Given the description of an element on the screen output the (x, y) to click on. 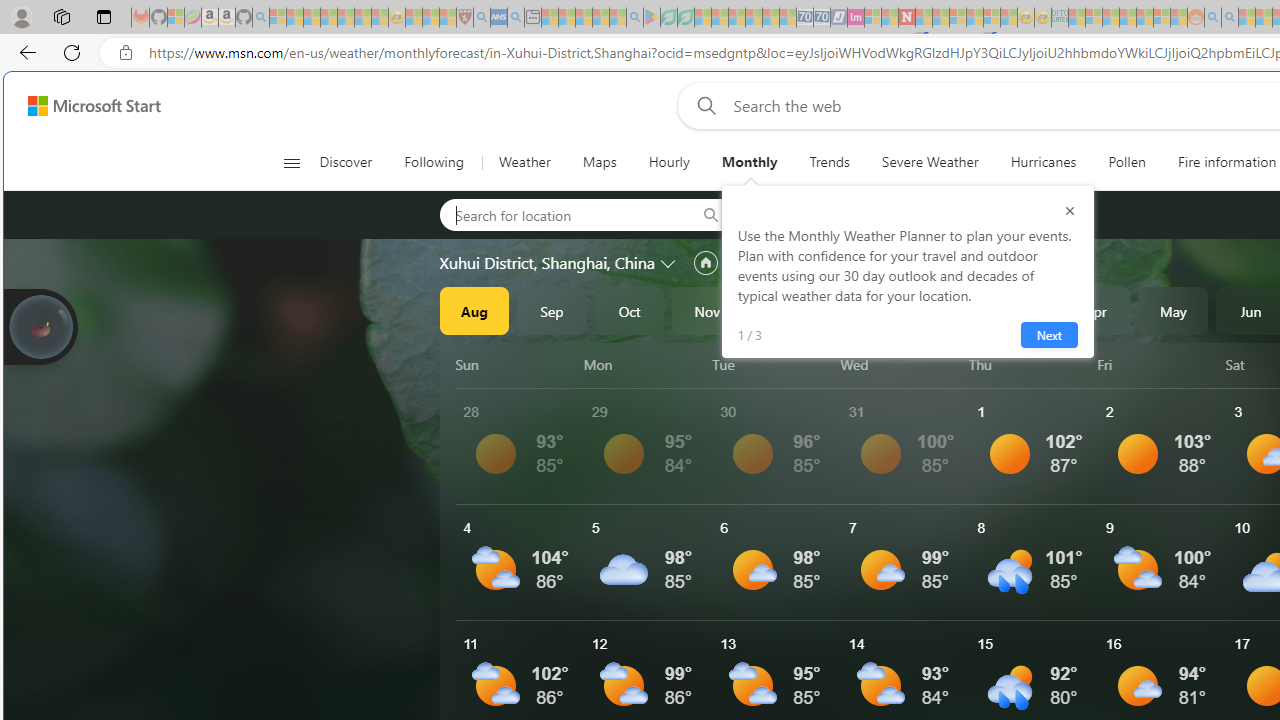
Mar (1018, 310)
Maps (599, 162)
Trends (829, 162)
MSNBC - MSN - Sleeping (1076, 17)
Aberdeen (807, 214)
Monthly (749, 162)
Oct (629, 310)
